Given the description of an element on the screen output the (x, y) to click on. 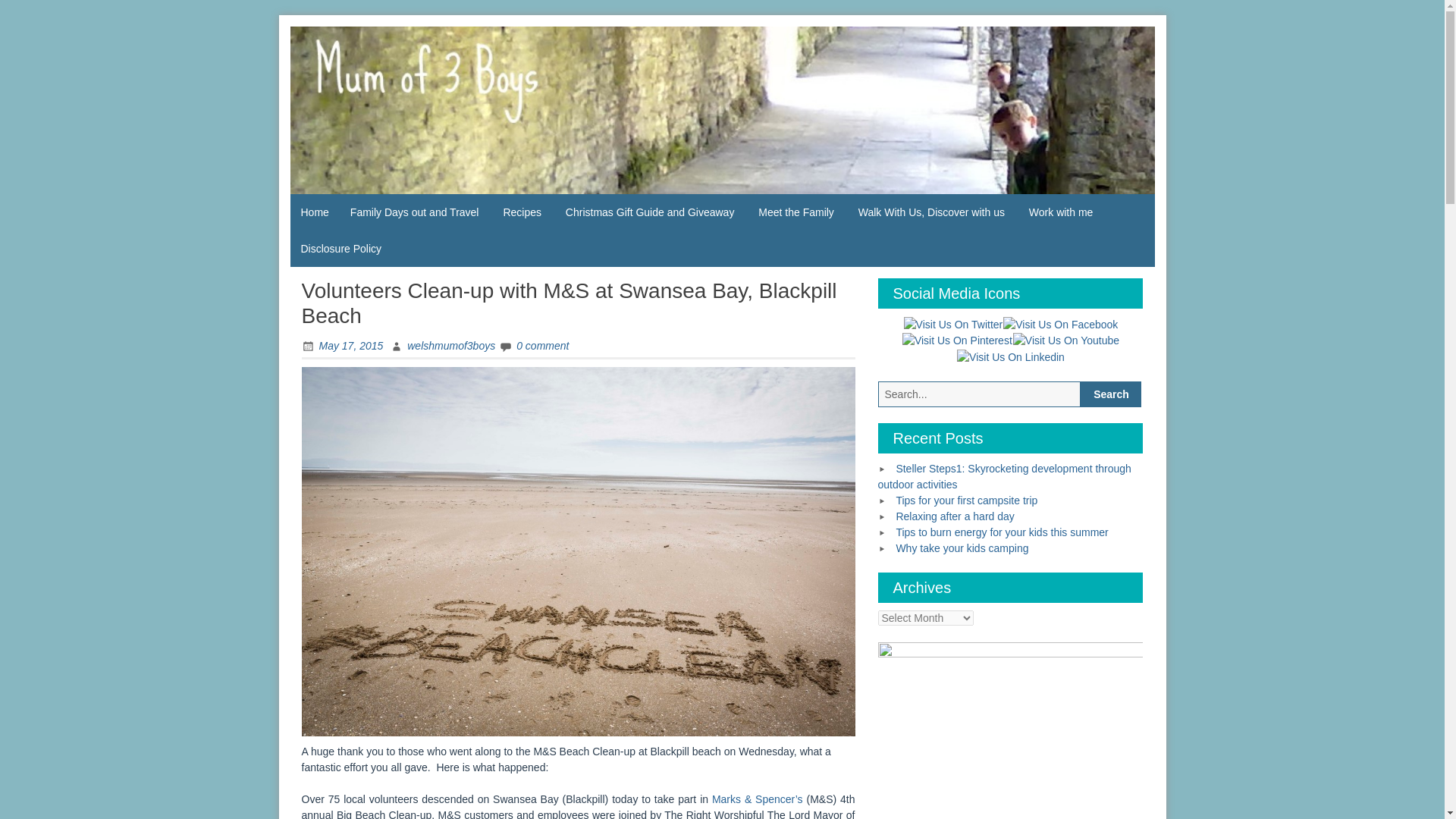
Search (1110, 394)
Home (314, 212)
Search (1110, 394)
Recipes (521, 212)
Disclosure Policy (340, 248)
Visit Us On Twitter (952, 323)
welshmumof3boys (442, 345)
Search (1110, 394)
Work with me (1060, 212)
